Given the description of an element on the screen output the (x, y) to click on. 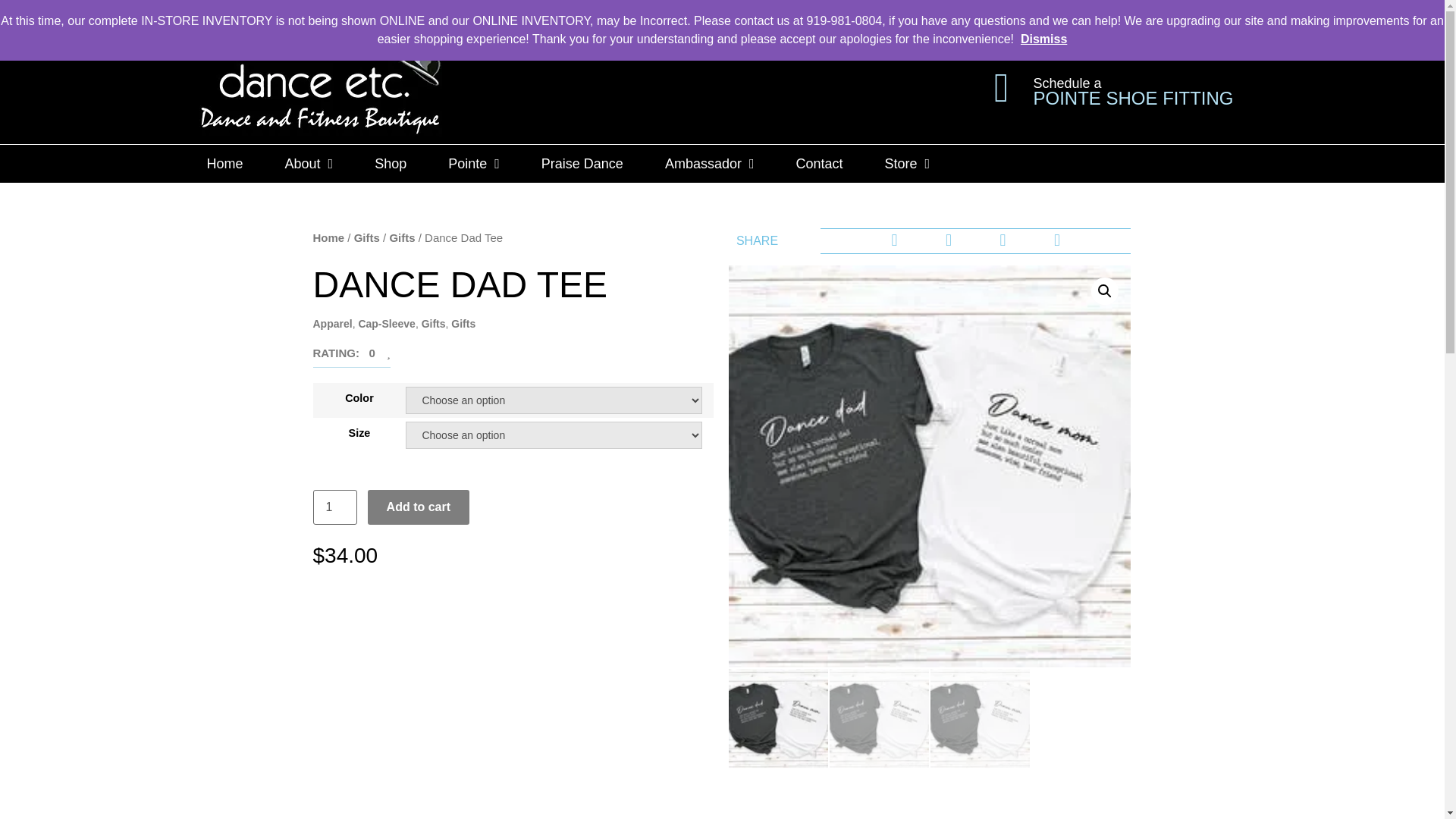
Account (1040, 14)
Pointe (473, 163)
About (309, 163)
Schedule a (1066, 83)
1 (334, 506)
Store (906, 163)
Dance Etc Logo (319, 87)
Home (223, 163)
Ambassador (709, 163)
Contact (819, 163)
Shop (390, 163)
Praise Dance (582, 163)
